Given the description of an element on the screen output the (x, y) to click on. 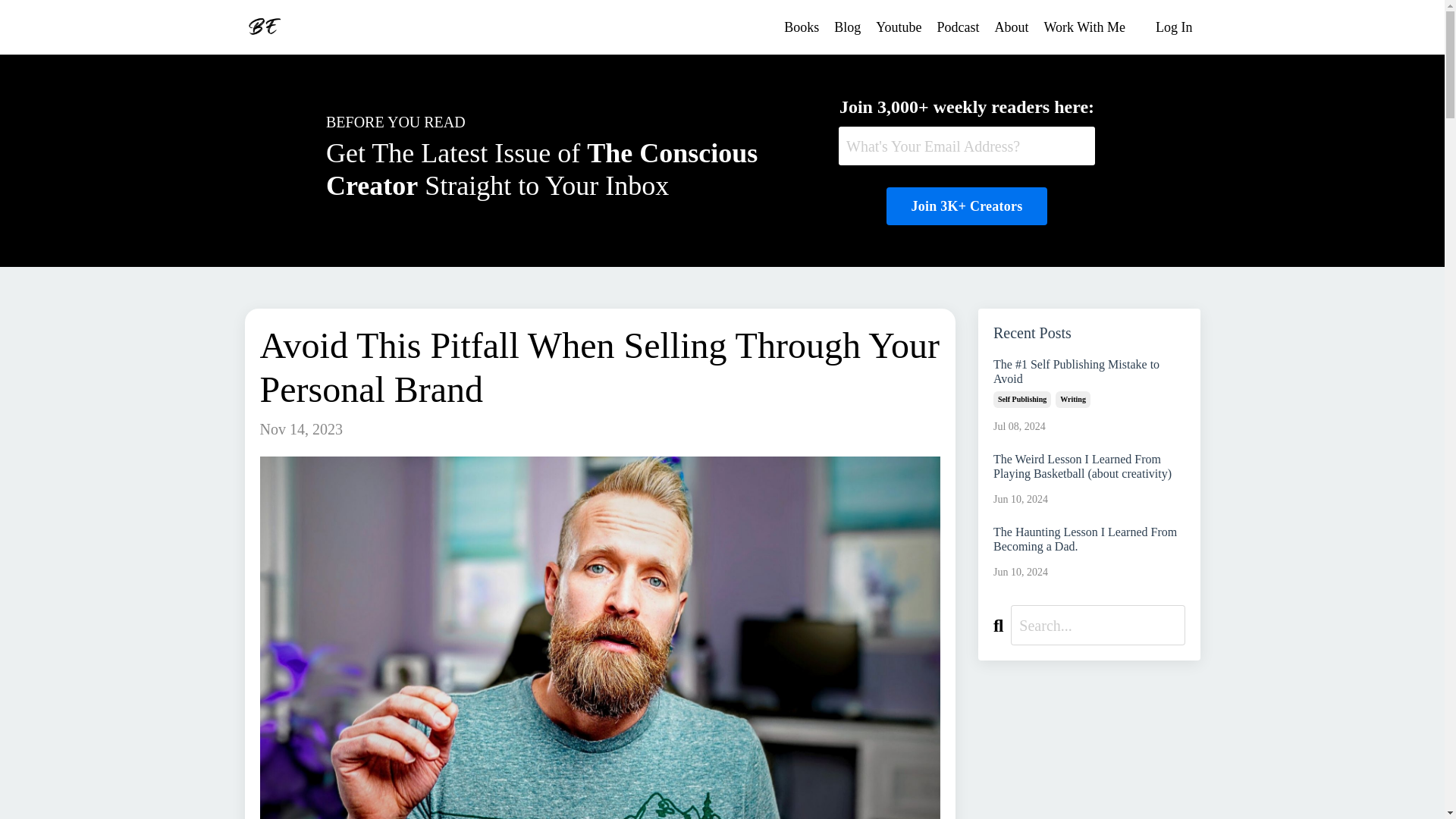
Self Publishing (1021, 399)
About (1011, 27)
Blog (847, 27)
The Haunting Lesson I Learned From Becoming a Dad. (1088, 538)
Youtube (898, 27)
Podcast (958, 27)
Books (801, 27)
Log In (1174, 27)
Writing (1072, 399)
Work With Me (1084, 27)
